Given the description of an element on the screen output the (x, y) to click on. 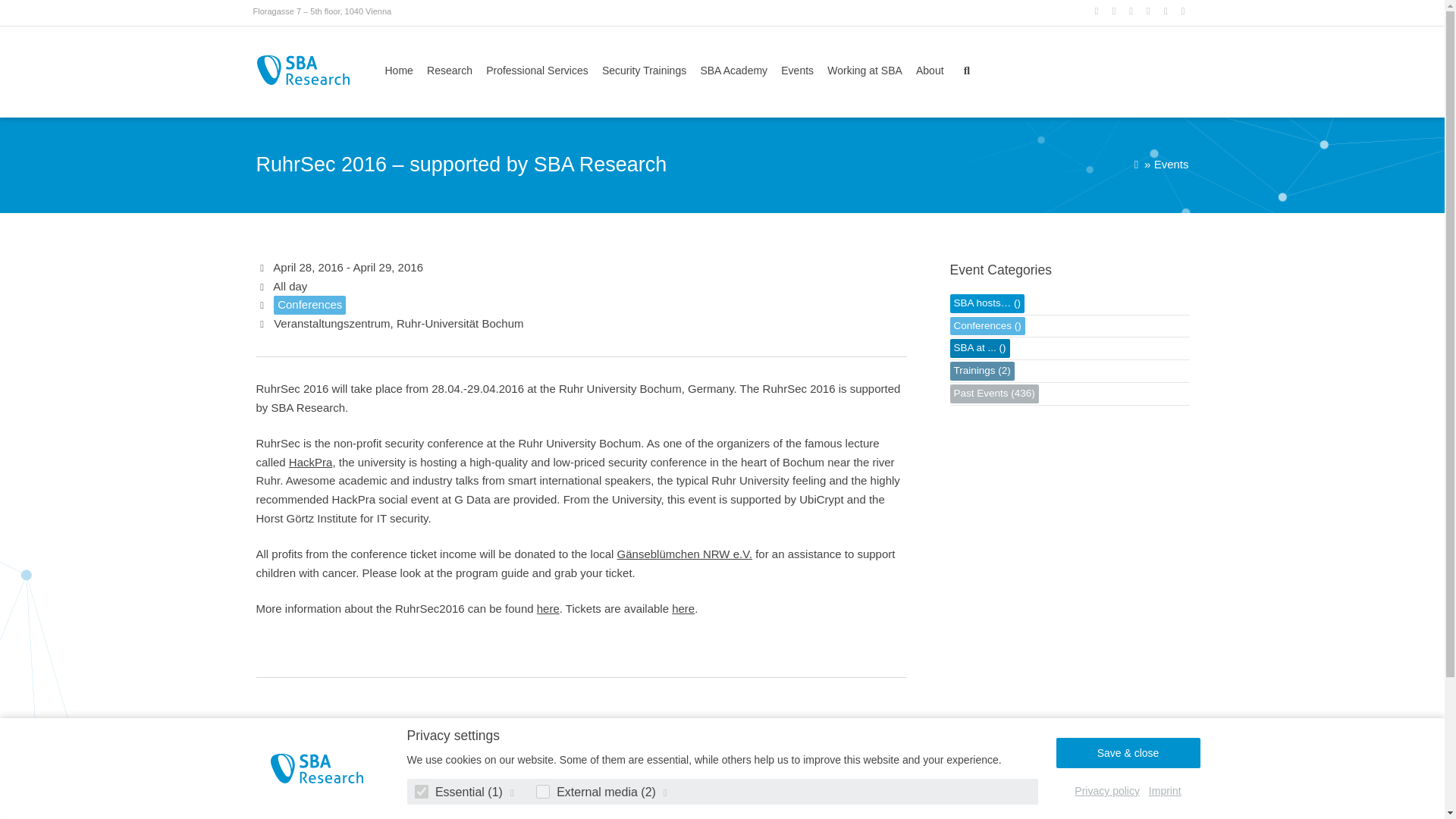
Security Trainings (643, 70)
Professional Services (537, 70)
SBA Research Meetup (1132, 10)
Show cookie-details (513, 792)
Show cookie-details (666, 792)
Home (402, 70)
SBA Research (303, 70)
on (542, 791)
on (420, 791)
SBA RSS Feed (1184, 10)
Research (449, 70)
SBA Research YouTube (1166, 10)
SBA Research LinkedIn (1115, 10)
SBA Research X (1097, 10)
SBA Research Slideshare (1149, 10)
